Given the description of an element on the screen output the (x, y) to click on. 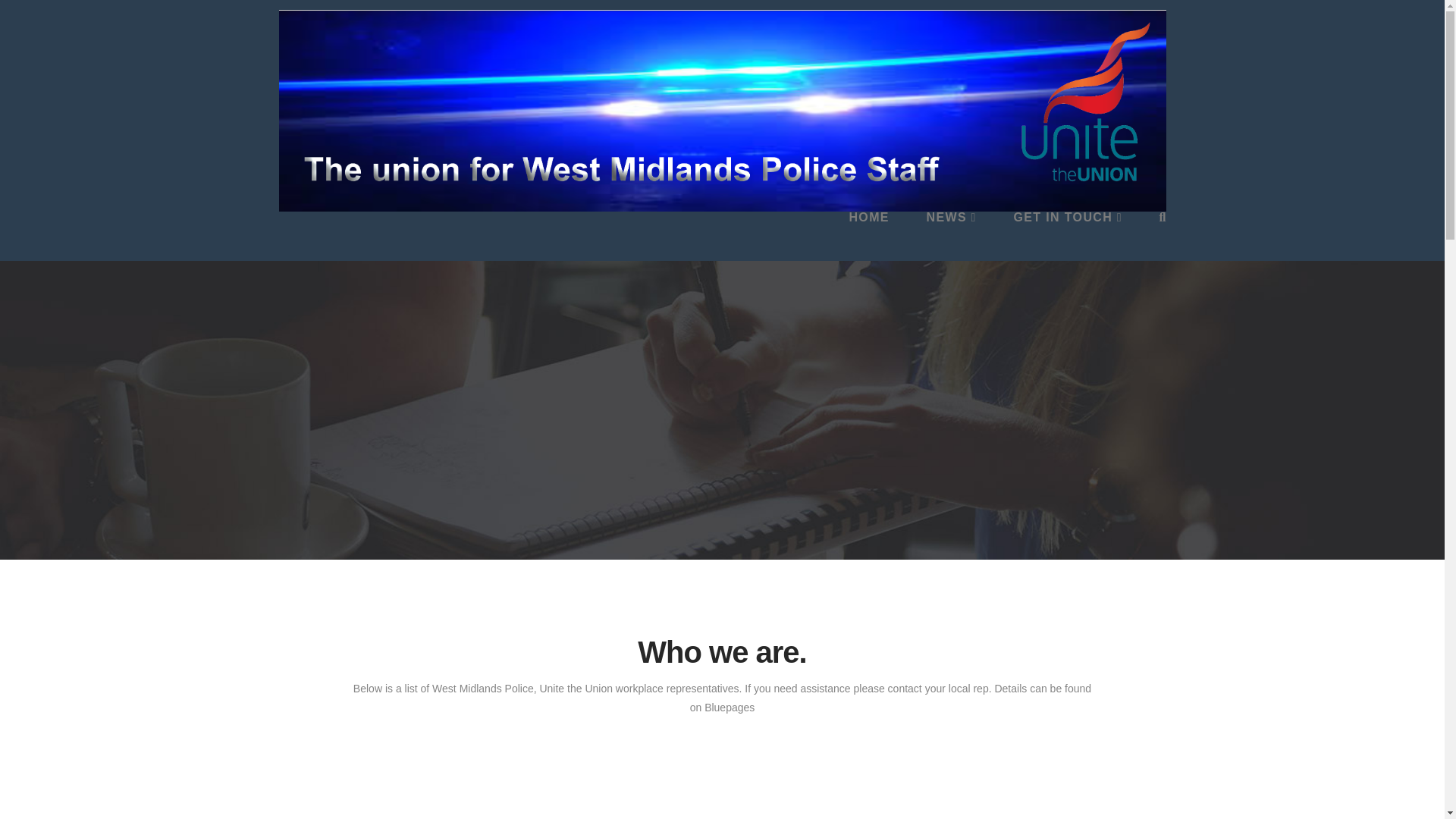
GET IN TOUCH (1067, 236)
HOME (868, 236)
NEWS (950, 236)
